Given the description of an element on the screen output the (x, y) to click on. 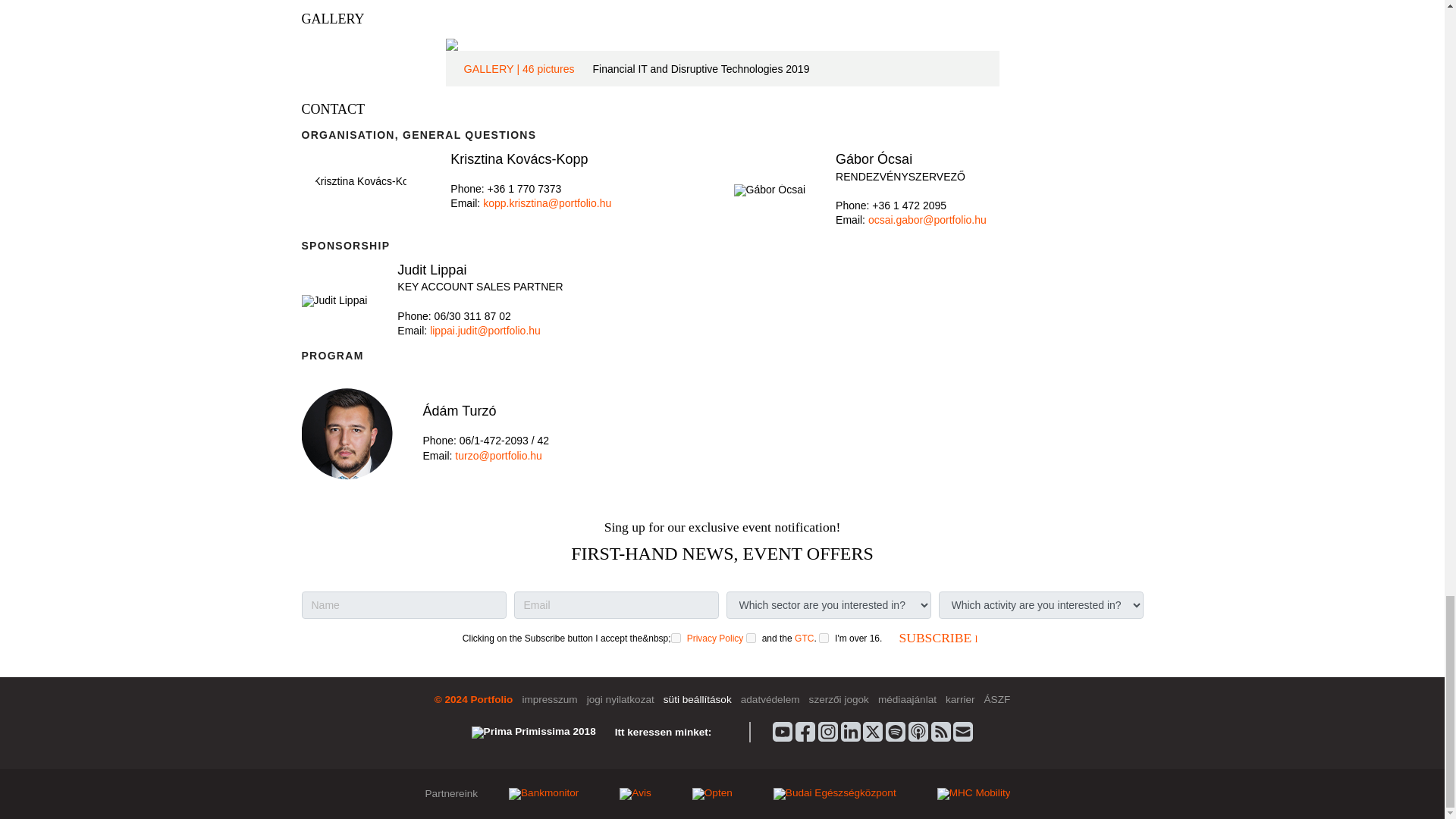
Rss (940, 731)
MHC Mobility (973, 793)
1 (823, 637)
Bankmonitor (543, 793)
Linkedin (850, 731)
Spotify (895, 731)
1 (750, 637)
Facebook (804, 731)
1 (676, 637)
X (872, 731)
